Given the description of an element on the screen output the (x, y) to click on. 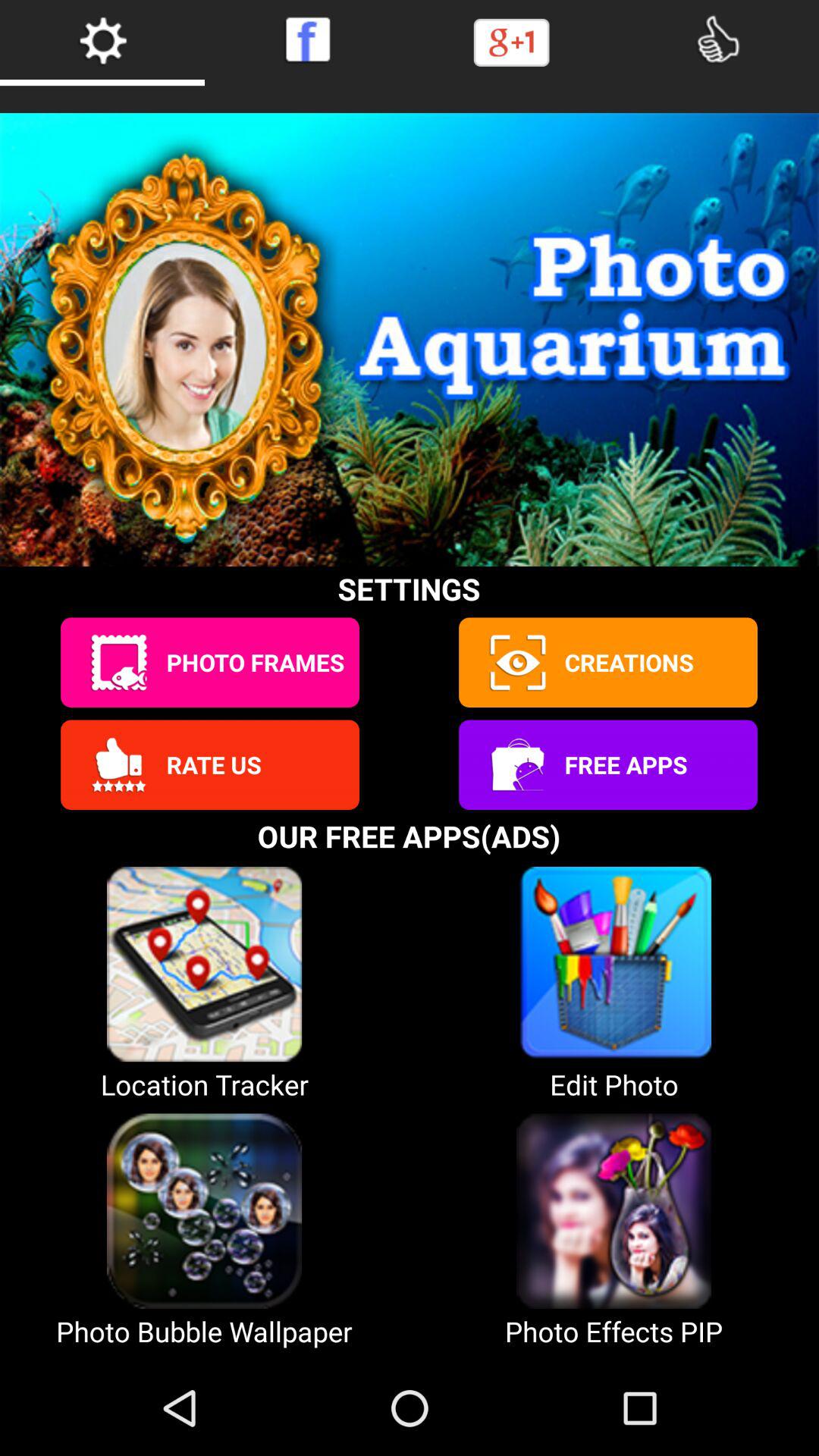
like us (716, 39)
